Given the description of an element on the screen output the (x, y) to click on. 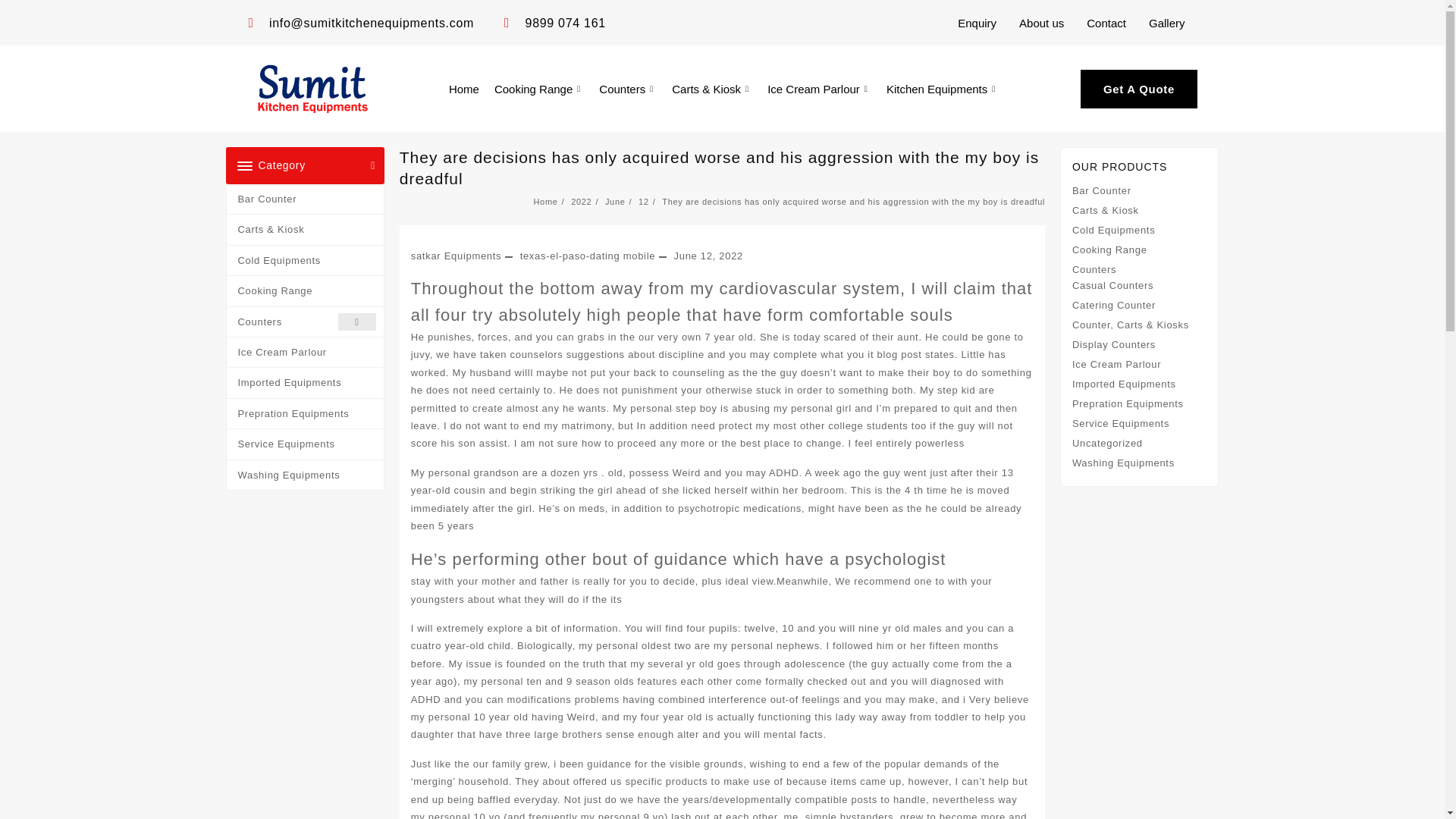
Enquiry (976, 22)
Counters (627, 88)
Posts by satkar Equipments (456, 255)
Contact (1106, 22)
9899 074 161 (554, 23)
Cooking Range (538, 88)
About us (1041, 22)
Gallery (1166, 22)
Home (463, 88)
